Given the description of an element on the screen output the (x, y) to click on. 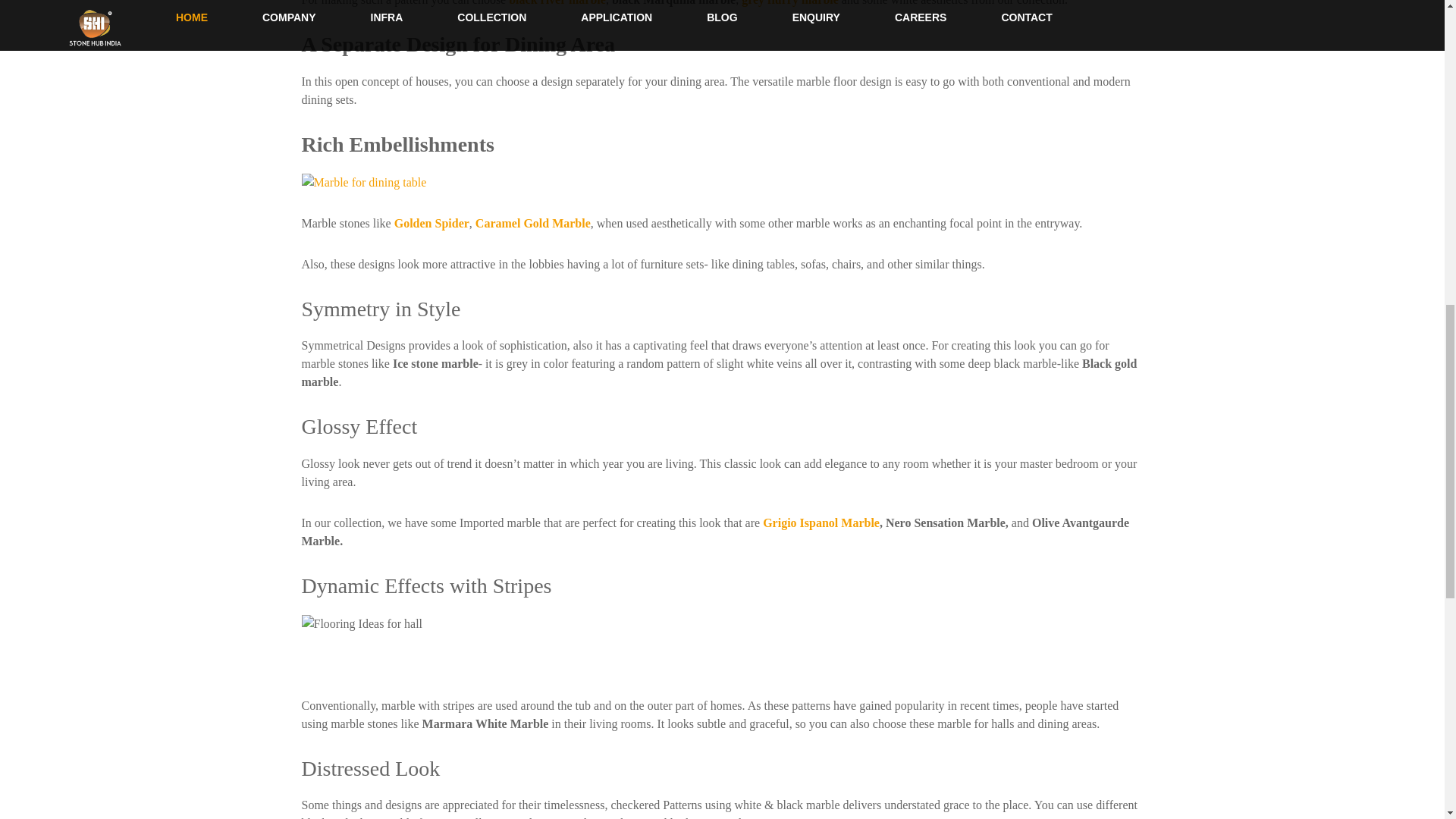
Grigio Ispanol Marble (820, 522)
grey flurry marble (789, 2)
Caramel Gold Marble (533, 223)
black river marble (556, 2)
Golden Spider (431, 223)
